Given the description of an element on the screen output the (x, y) to click on. 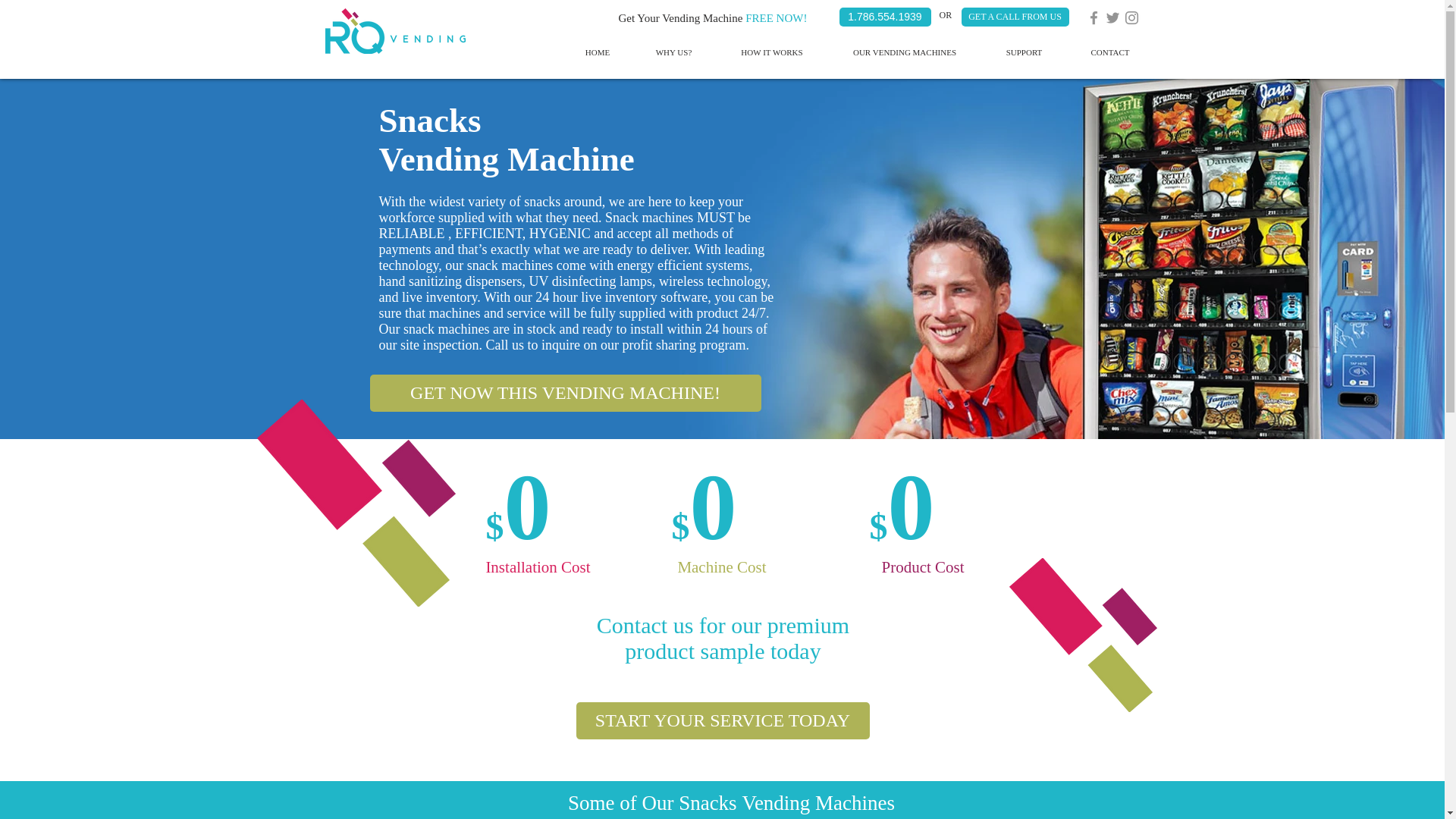
1.786.554.1939 (884, 16)
GET NOW THIS VENDING MACHINE! (565, 392)
SUPPORT (1024, 52)
GET A CALL FROM US (1014, 16)
OUR VENDING MACHINES (903, 52)
CONTACT (1110, 52)
HOME (596, 52)
OR CONTACT US HERE (1032, 50)
START YOUR SERVICE TODAY (722, 720)
WHY US? (673, 52)
HOW IT WORKS (772, 52)
